Given the description of an element on the screen output the (x, y) to click on. 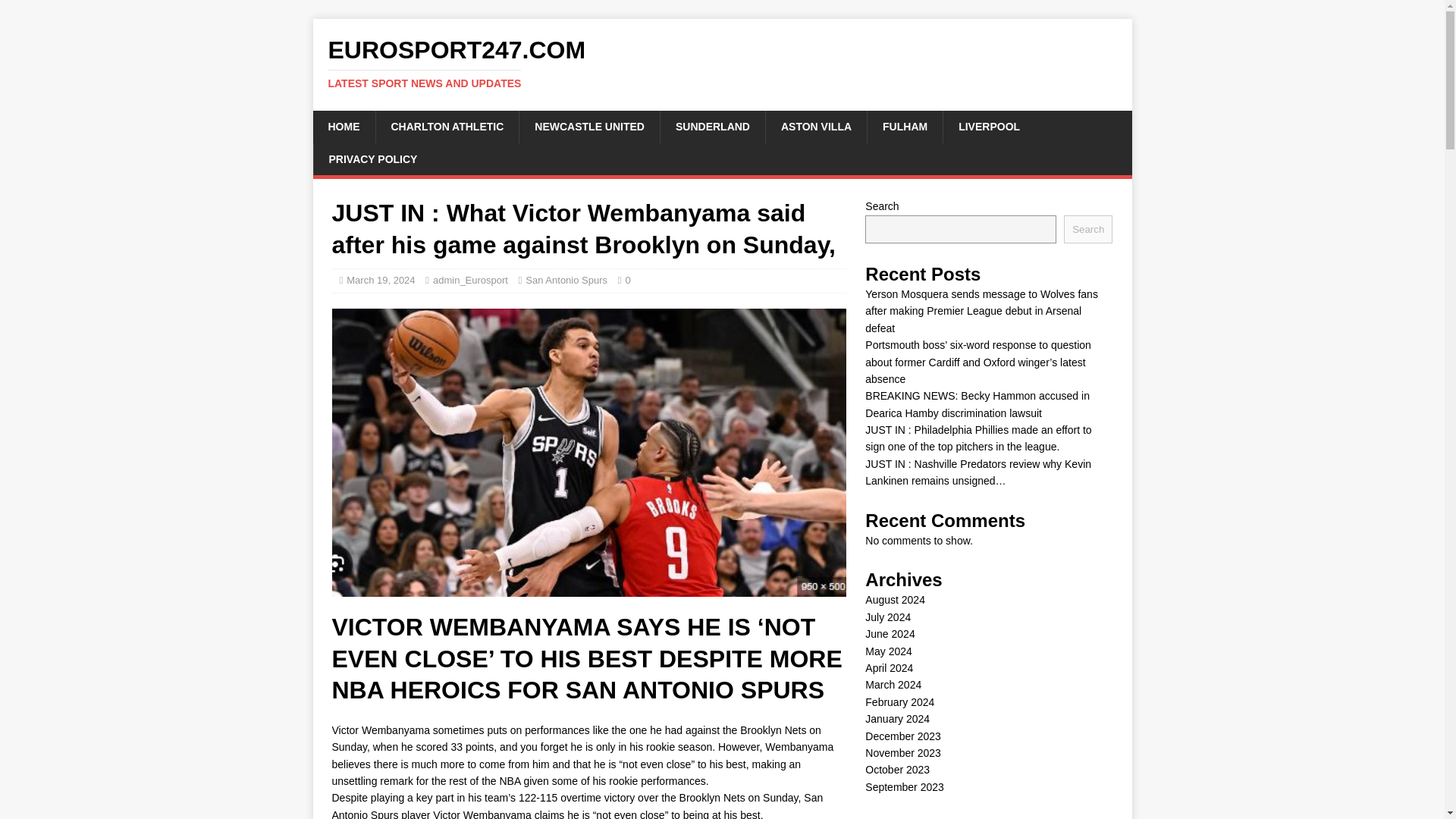
NEWCASTLE UNITED (588, 126)
March 19, 2024 (380, 279)
Eurosport247.com (721, 63)
FULHAM (904, 126)
CHARLTON ATHLETIC (446, 126)
LIVERPOOL (988, 126)
SUNDERLAND (712, 126)
May 2024 (887, 651)
